Given the description of an element on the screen output the (x, y) to click on. 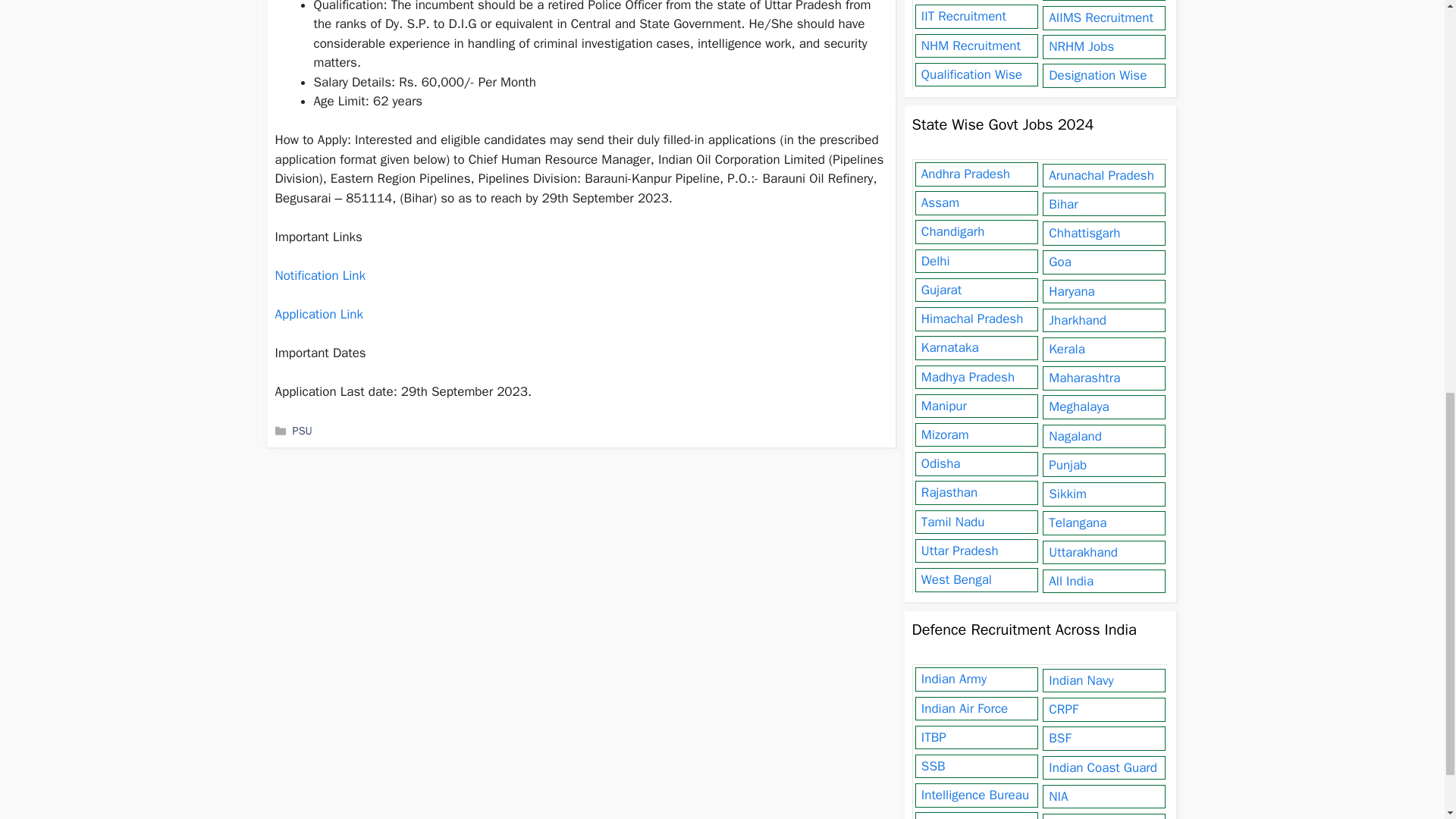
Application Link (318, 314)
PSU (302, 430)
Notification Link (320, 275)
